Given the description of an element on the screen output the (x, y) to click on. 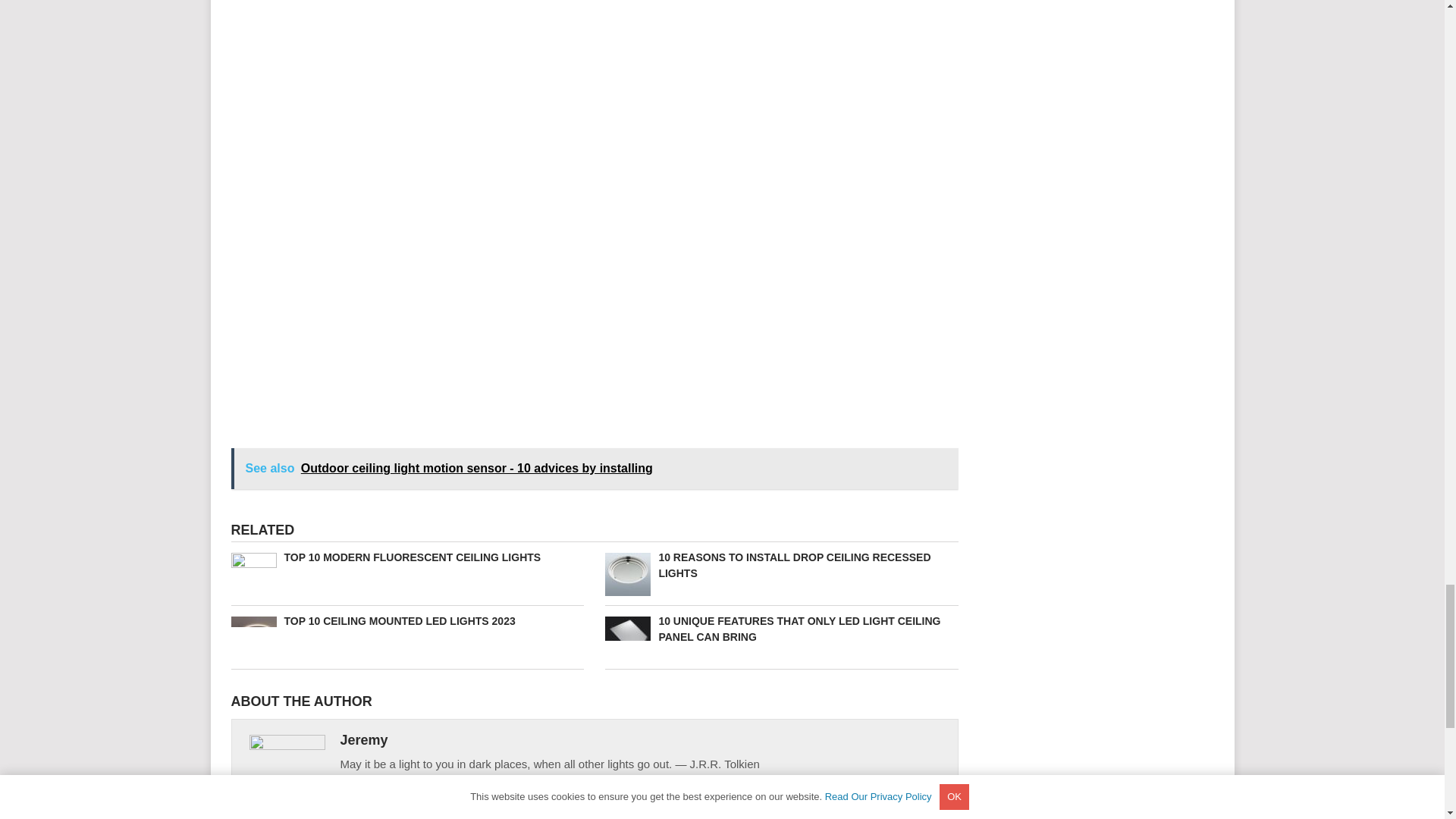
10 REASONS TO INSTALL DROP CEILING RECESSED LIGHTS (781, 565)
TOP 10 CEILING MOUNTED LED LIGHTS 2023 (406, 621)
TOP 10 Modern fluorescent ceiling lights (406, 557)
TOP 10 MODERN FLUORESCENT CEILING LIGHTS (406, 557)
10 reasons to install Drop ceiling recessed lights (781, 565)
TOP 10 Ceiling mounted led lights 2023 (406, 621)
